Given the description of an element on the screen output the (x, y) to click on. 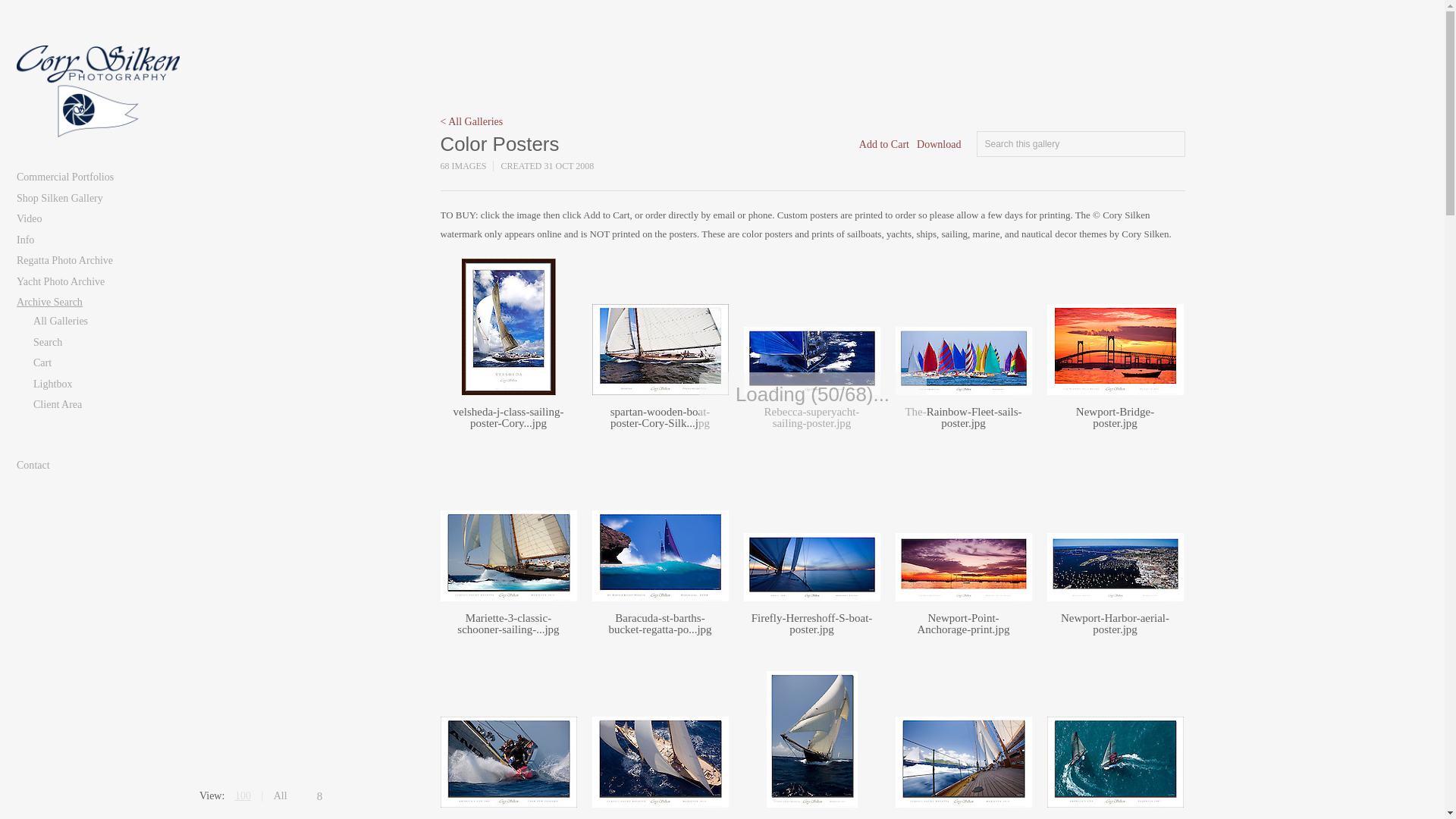
Newport-Point-Anchorage-print.jpg (963, 623)
Newport-Bridge-poster.jpg (1114, 417)
Mariette-3-classic-schooner-sailing-...jpg (508, 623)
Cory Silken Photography (98, 91)
Rebecca-superyacht-sailing-poster.jpg (812, 417)
All Galleries (470, 121)
Add to Cart (883, 144)
velsheda-j-class-sailing-poster-Cory...jpg (508, 417)
spartan-wooden-boat-poster-Cory-Silk...jpg (660, 417)
